Given the description of an element on the screen output the (x, y) to click on. 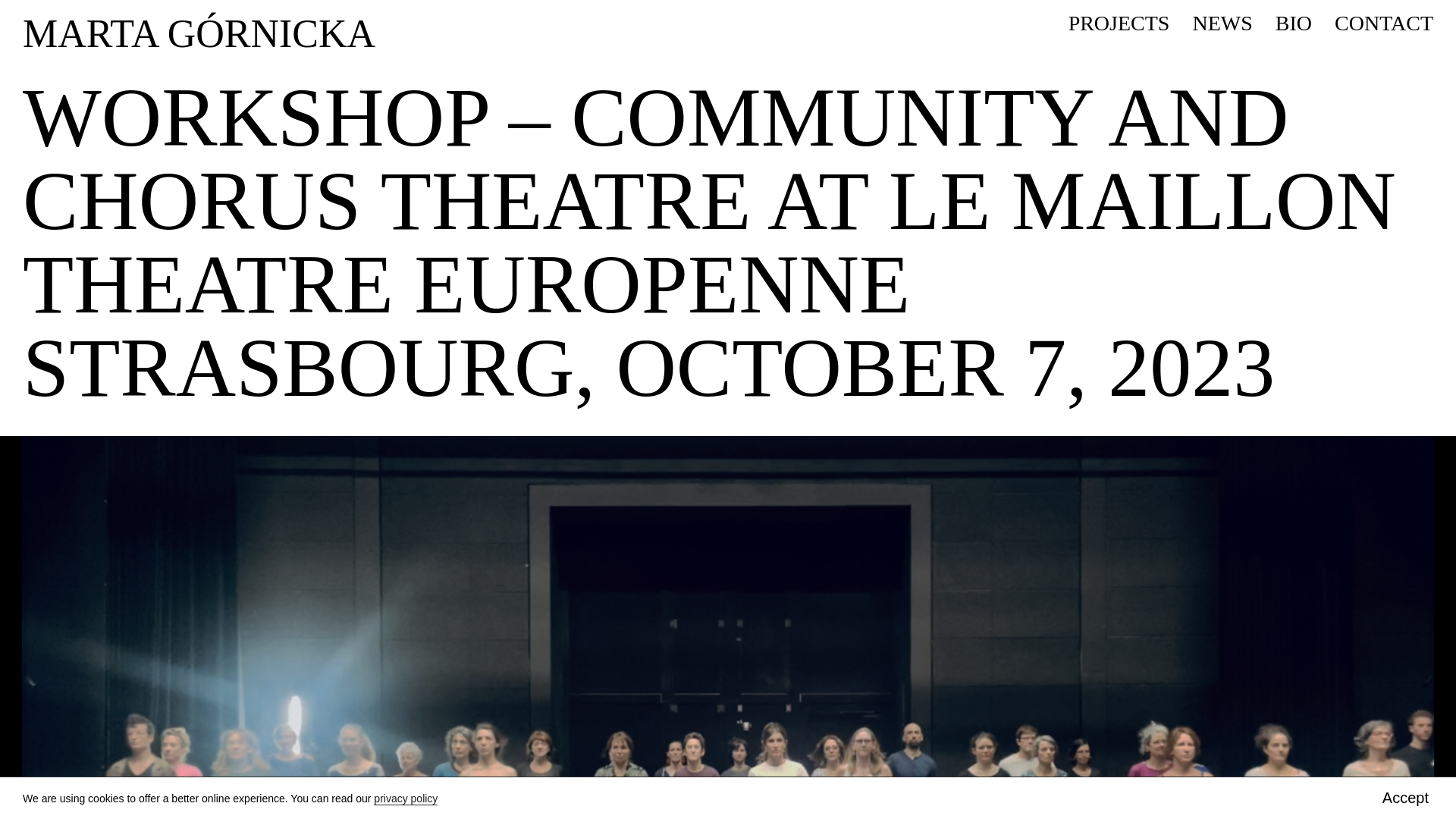
privacy policy (406, 798)
NEWS (1222, 23)
BIO (1293, 23)
PROJECTS (1119, 23)
Accept (1404, 797)
CONTACT (1383, 23)
